Given the description of an element on the screen output the (x, y) to click on. 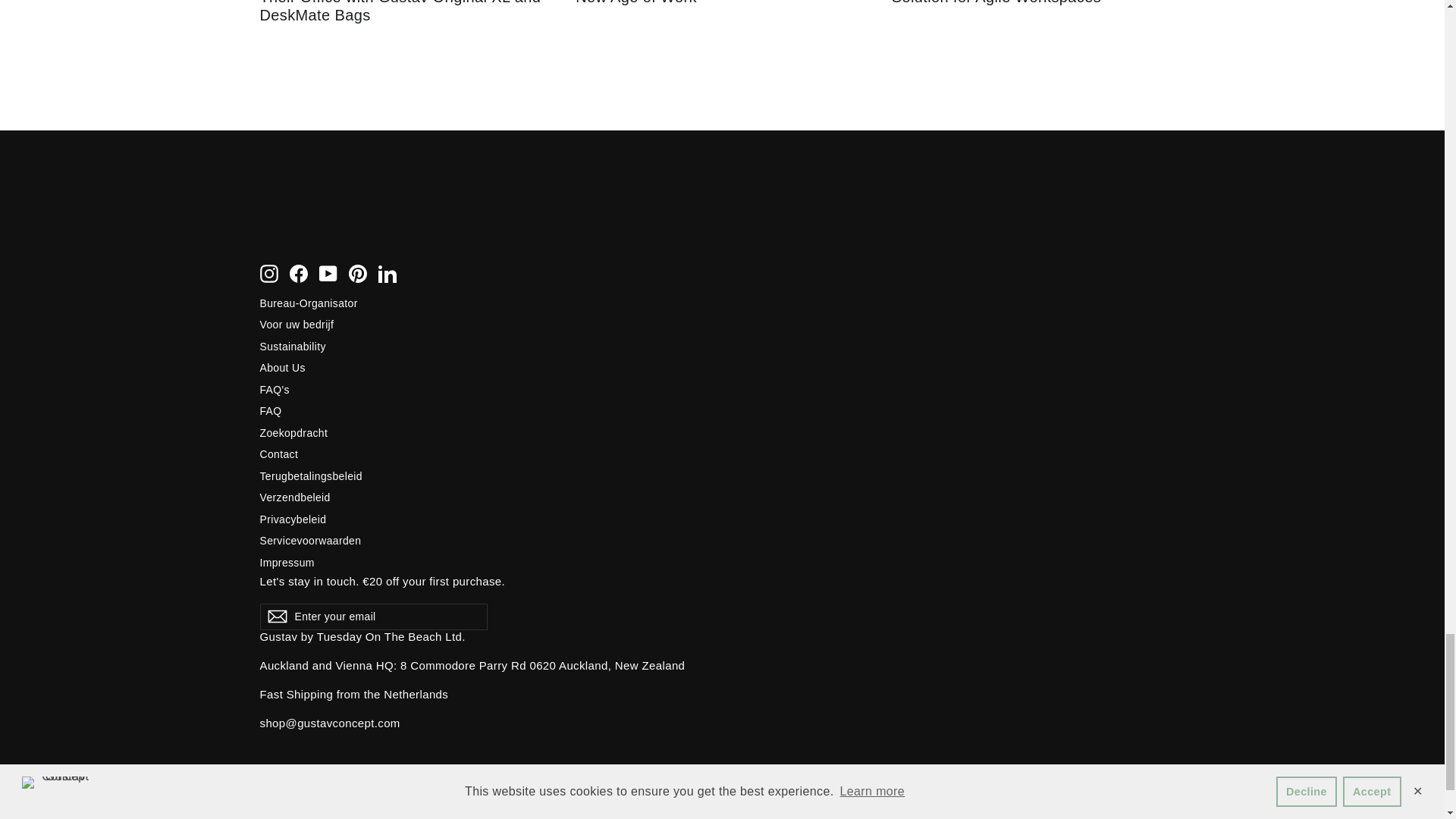
Gustav Concept on YouTube (327, 280)
Gustav Concept on Instagram (268, 280)
Gustav Concept on LinkedIn (386, 280)
instagram (268, 280)
Gustav Concept on Pinterest (357, 280)
Gustav Concept on Facebook (298, 280)
icon-email (276, 624)
